Given the description of an element on the screen output the (x, y) to click on. 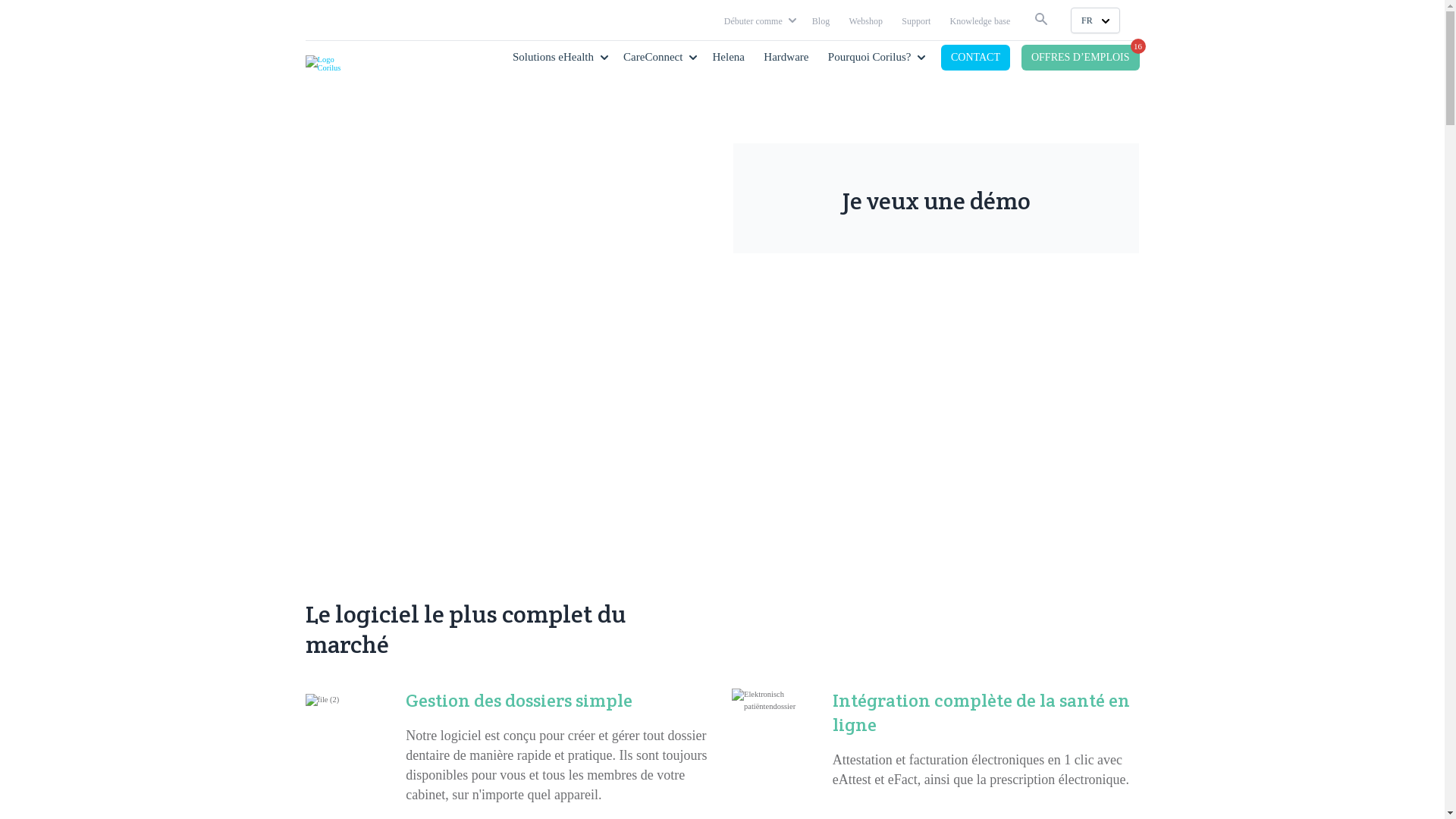
Pourquoi Corilus? Element type: text (869, 56)
Blog Element type: text (820, 20)
Hardware Element type: text (785, 56)
Helena Element type: text (728, 56)
SHOW SUBMENU FOR POURQUOI CORILUS? Element type: text (921, 56)
SHOW SUBMENU FOR SOLUTIONS EHEALTH Element type: text (604, 56)
CONTACT Element type: text (975, 57)
Support Element type: text (915, 20)
Knowledge base Element type: text (980, 20)
Solutions eHealth Element type: text (552, 56)
CareConnect Element type: text (652, 56)
Webshop Element type: text (865, 20)
SHOW SUBMENU FOR CARECONNECT Element type: text (692, 56)
Logo Corilus Element type: hover (329, 63)
